Given the description of an element on the screen output the (x, y) to click on. 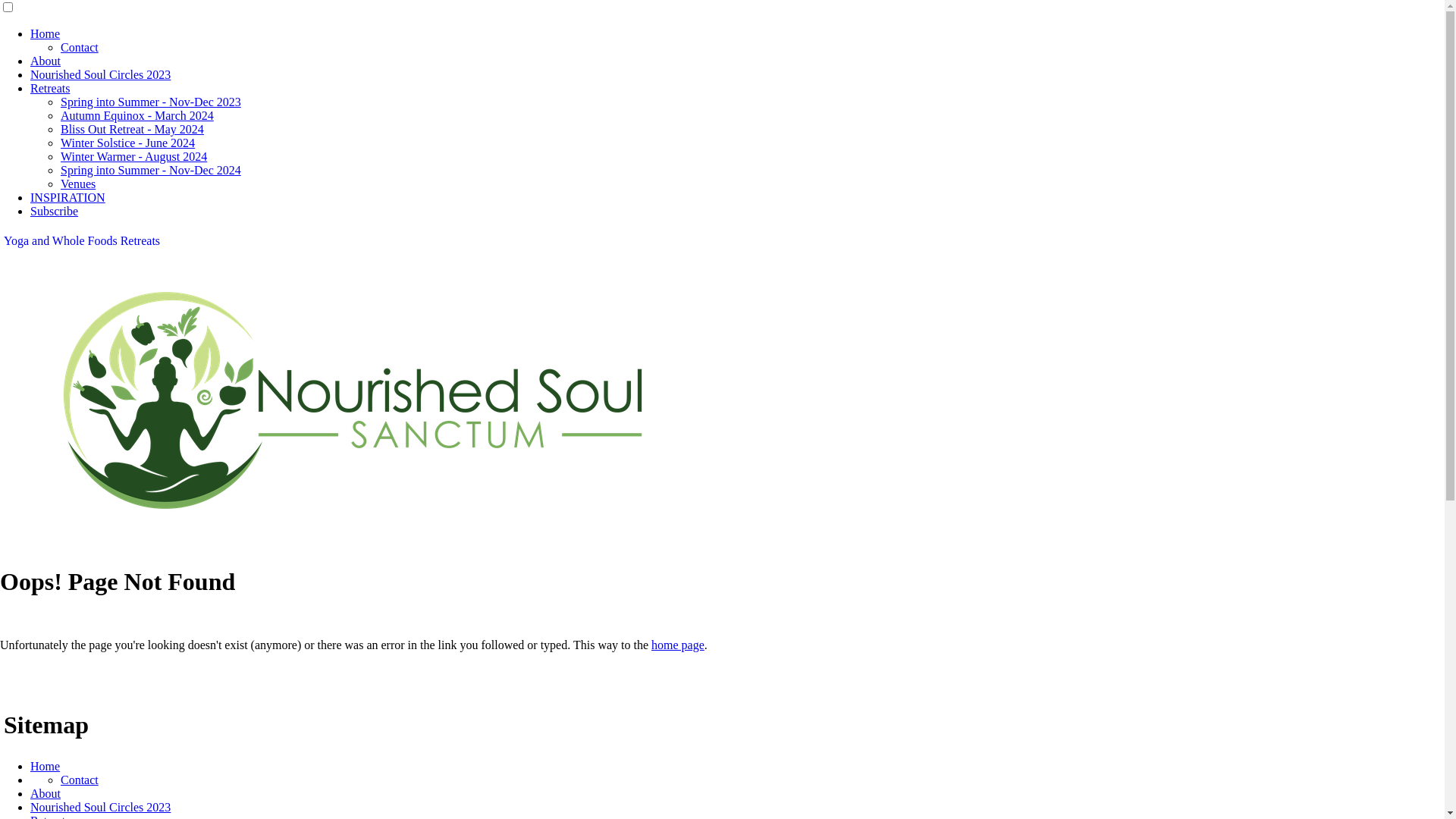
Winter Solstice - June 2024 Element type: text (127, 142)
INSPIRATION Element type: text (67, 197)
Spring into Summer - Nov-Dec 2023 Element type: text (150, 101)
Autumn Equinox - March 2024 Element type: text (136, 115)
Contact Element type: text (79, 46)
Home Element type: text (44, 33)
Contact Element type: text (79, 779)
Yoga and Whole Foods Retreats Element type: text (81, 240)
home page Element type: text (677, 644)
Bliss Out Retreat - May 2024 Element type: text (131, 128)
Venues Element type: text (77, 183)
Spring into Summer - Nov-Dec 2024 Element type: text (150, 169)
Nourished Soul Circles 2023 Element type: text (100, 74)
Home Element type: text (44, 765)
About Element type: text (45, 793)
Subscribe Element type: text (54, 210)
Winter Warmer - August 2024 Element type: text (133, 156)
About Element type: text (45, 60)
Nourished Soul Circles 2023 Element type: text (100, 806)
Retreats Element type: text (49, 87)
